Given the description of an element on the screen output the (x, y) to click on. 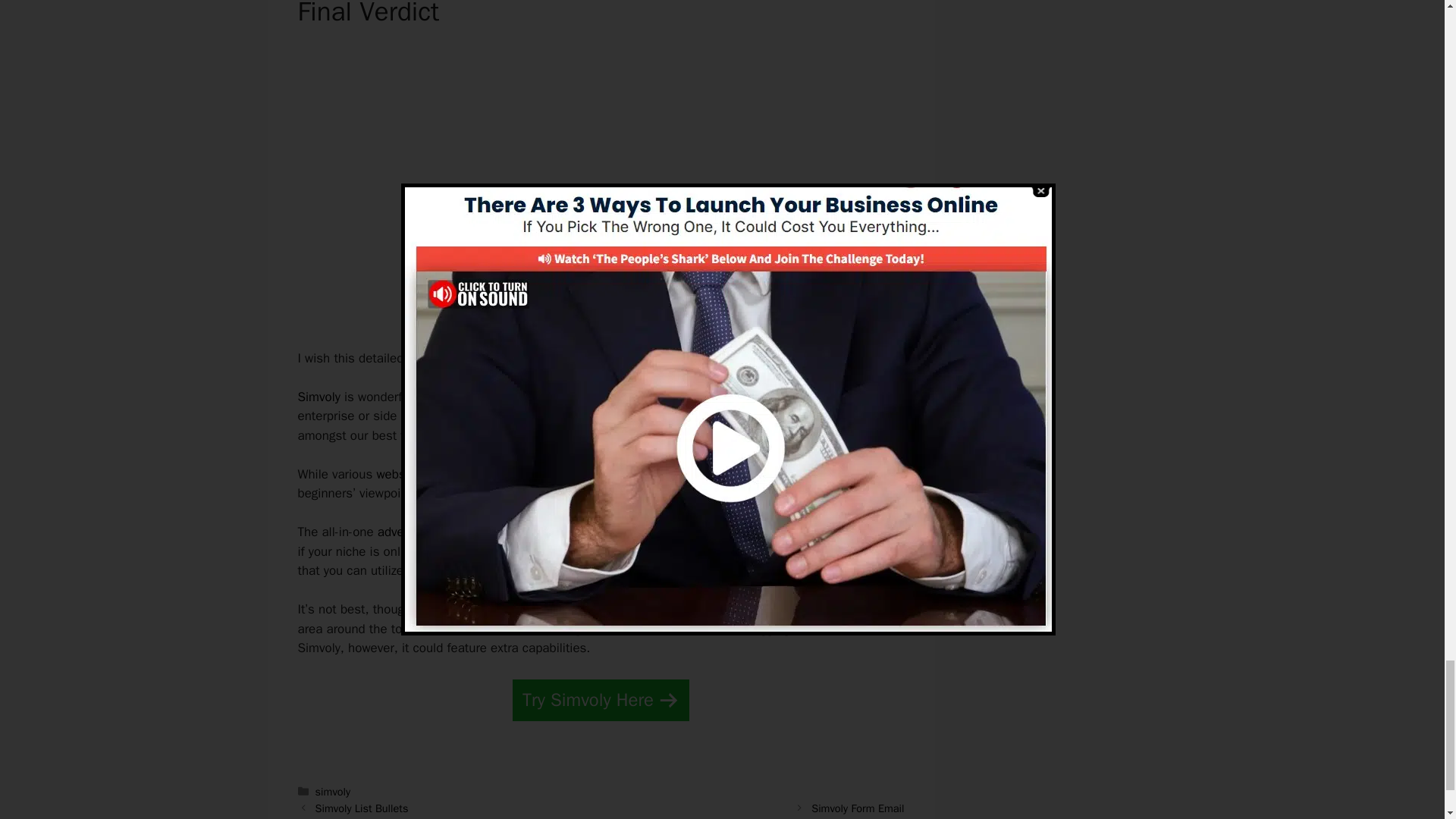
high converting sales funnels (614, 396)
internet marketing professionals (801, 493)
Try Simvoly Here (600, 700)
simvoly (332, 791)
Simvoly List Bullets (362, 807)
Simvoly (318, 396)
Simvoly Form Email (857, 807)
advertising and marketing (449, 531)
website (397, 474)
